Given the description of an element on the screen output the (x, y) to click on. 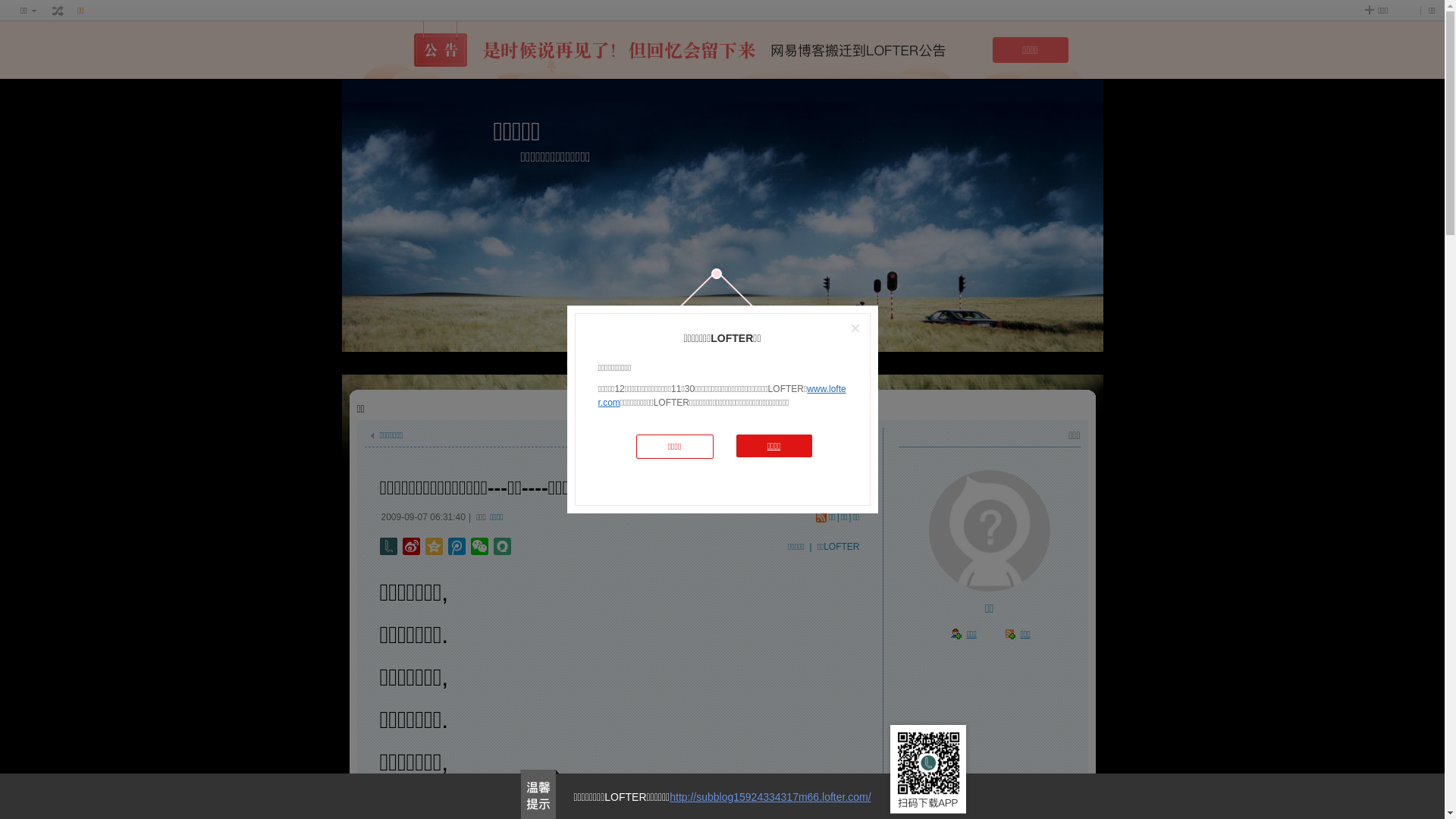
  Element type: text (58, 10)
http://subblog15924334317m66.lofter.com/ Element type: text (769, 796)
LOFTER Element type: text (665, 362)
www.lofter.com Element type: text (721, 395)
